Given the description of an element on the screen output the (x, y) to click on. 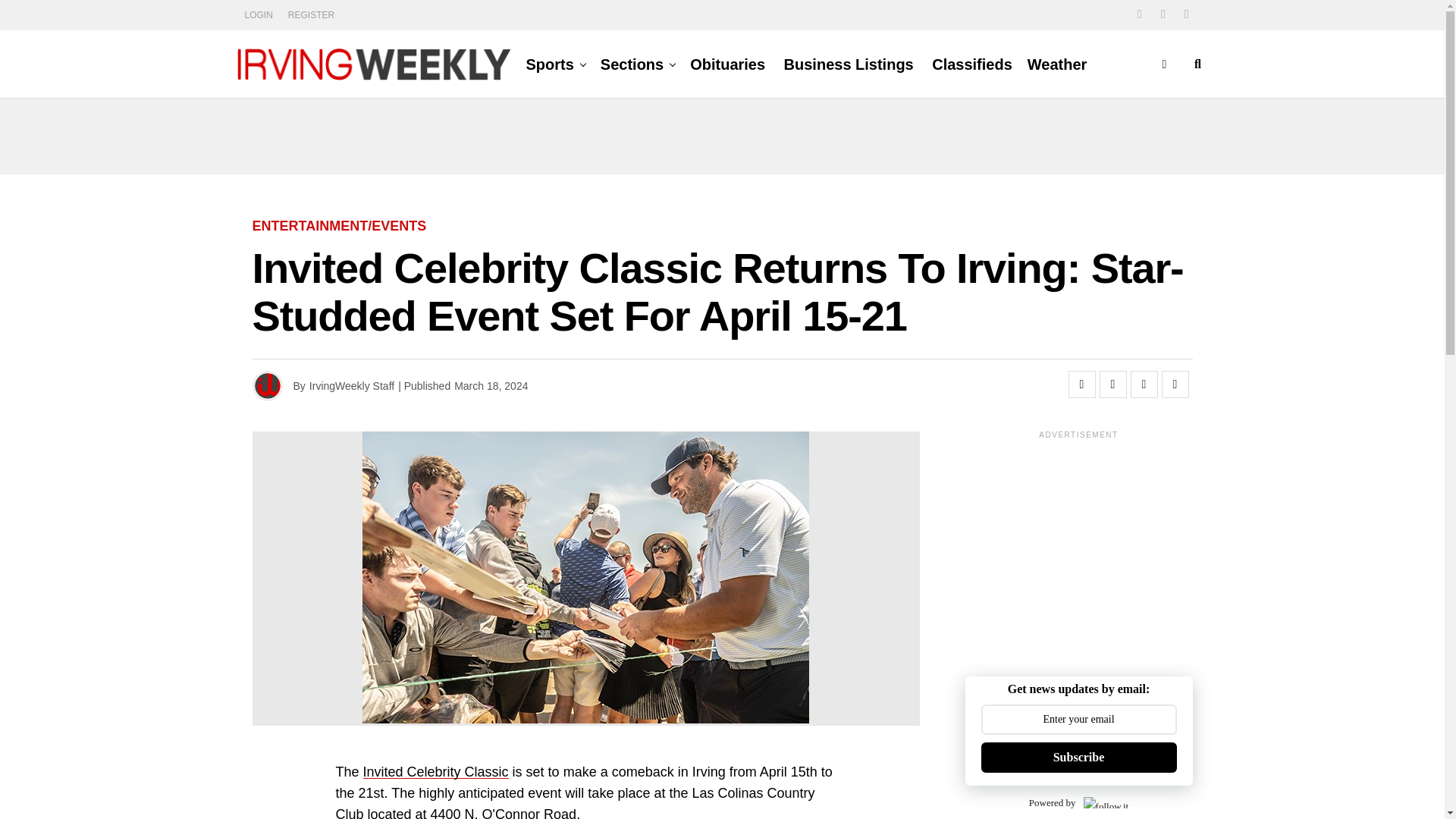
Tweet This Post (1112, 384)
Share on Facebook (1080, 384)
LOGIN (257, 15)
REGISTER (311, 15)
Copy story link to Clipboard (1143, 384)
Advertisement (721, 136)
Advertisement (1091, 547)
